Given the description of an element on the screen output the (x, y) to click on. 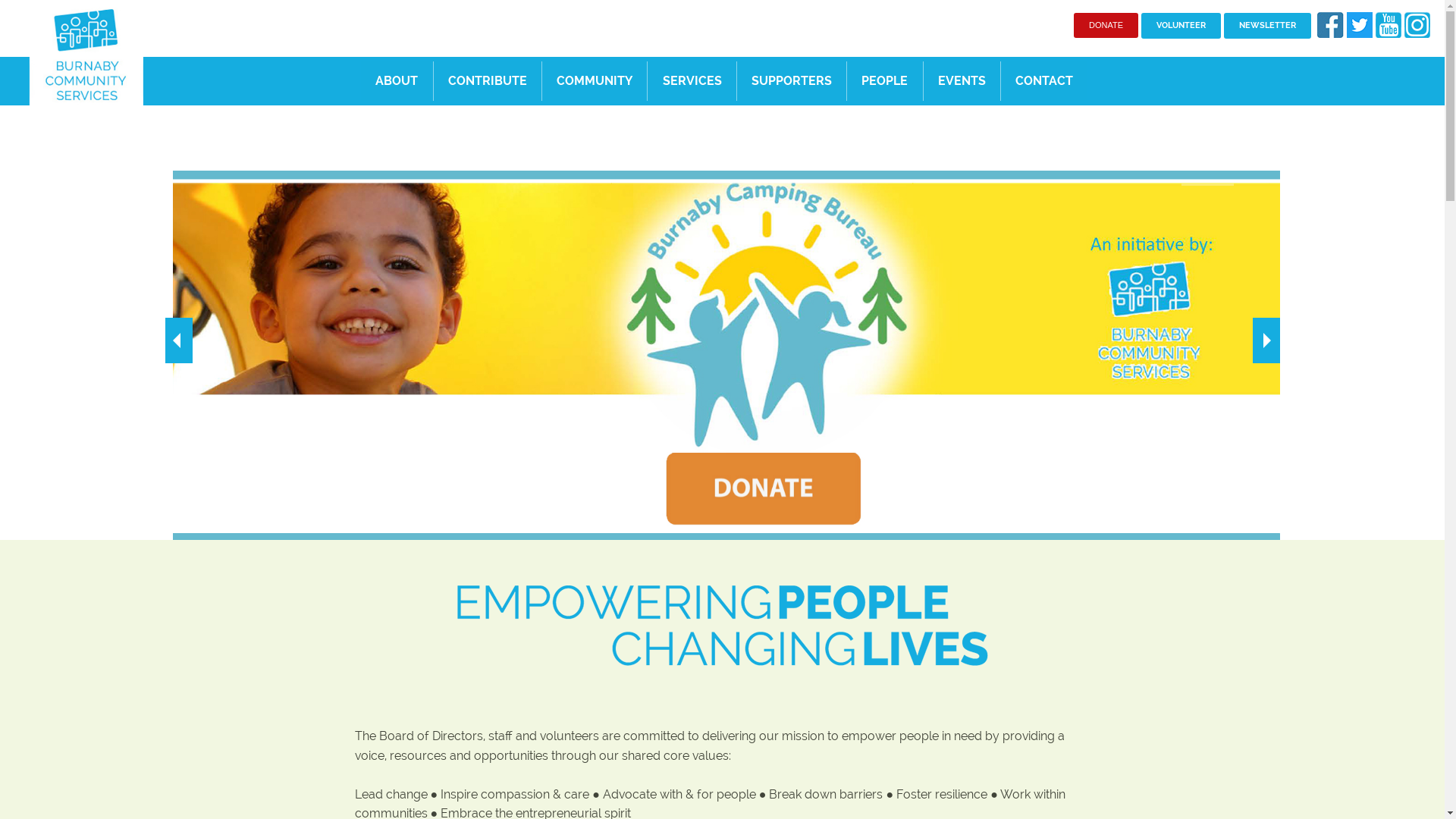
CONTACT Element type: text (1043, 80)
SUPPORTERS Element type: text (791, 80)
VOLUNTEER Element type: text (1180, 25)
ABOUT Element type: text (396, 80)
EVENTS Element type: text (960, 80)
DONATE Element type: text (1105, 24)
CONTRIBUTE Element type: text (487, 80)
logo Element type: hover (86, 53)
SERVICES Element type: text (690, 80)
COMMUNITY Element type: text (593, 80)
NEWSLETTER Element type: text (1267, 25)
PEOPLE Element type: text (884, 80)
